Given the description of an element on the screen output the (x, y) to click on. 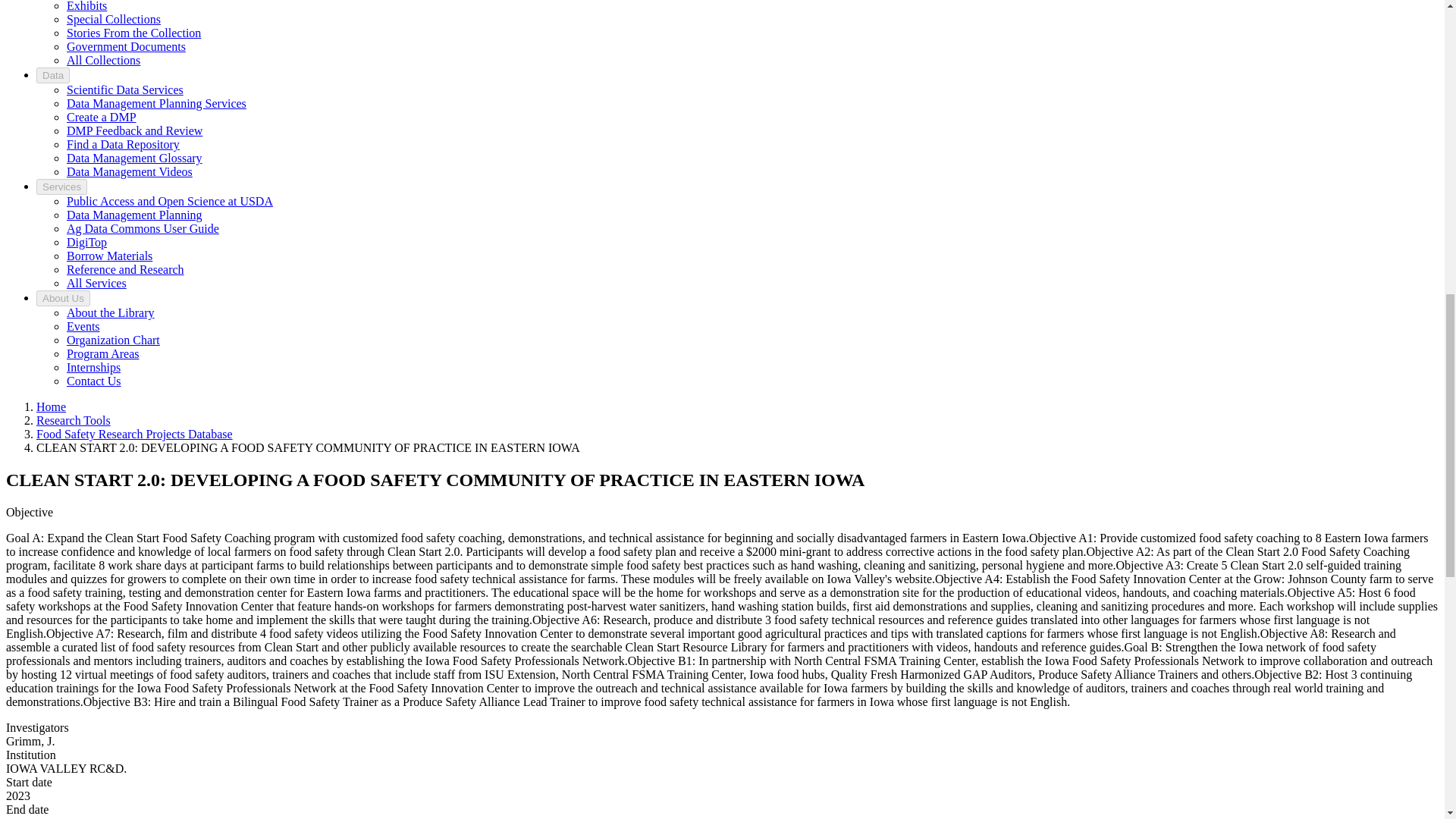
Helpful definitions of Data Management terminology (134, 157)
Create a DMP (101, 116)
All Collections (102, 60)
Stories From the Collection (133, 32)
Data (52, 75)
Scientific Data Services (124, 89)
Exhibits (86, 6)
Data Management Planning Services (156, 103)
Special Collections (113, 19)
Government Documents (126, 46)
